Given the description of an element on the screen output the (x, y) to click on. 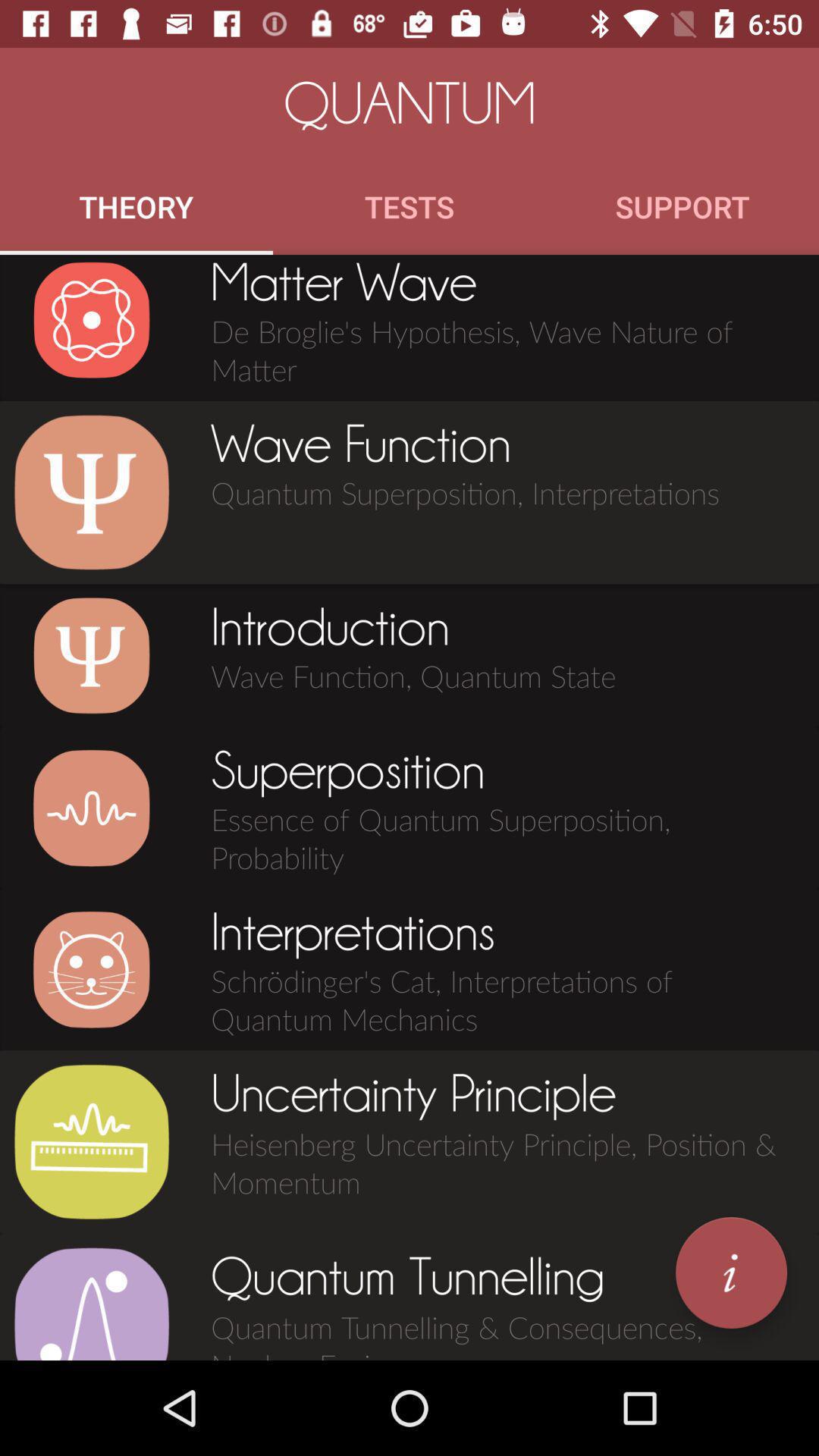
open icon below heisenberg uncertainty principle icon (731, 1272)
